Given the description of an element on the screen output the (x, y) to click on. 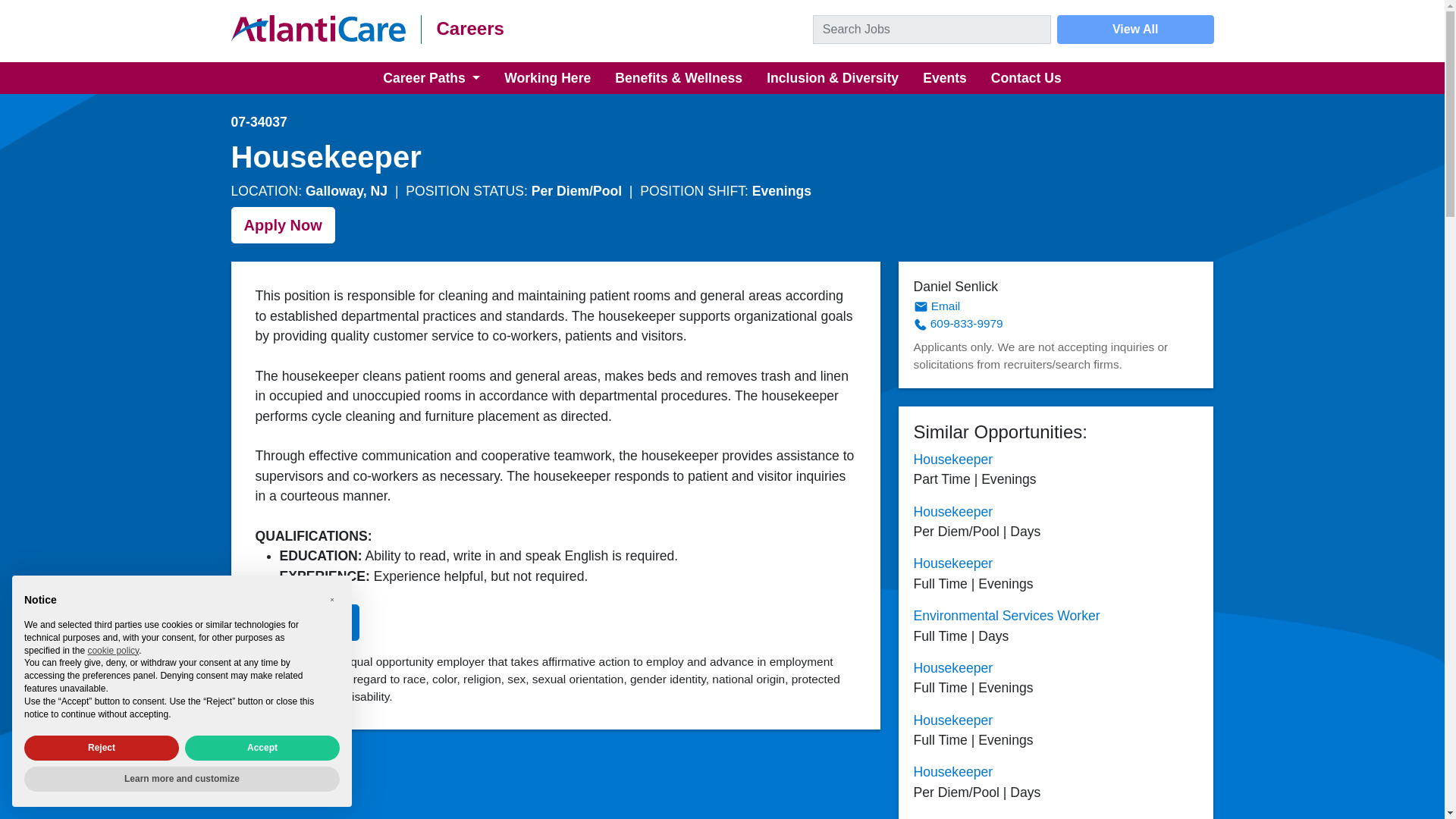
Housekeeper (952, 720)
Apply Now (306, 622)
Email (935, 305)
Events (944, 78)
View All (1135, 29)
609-833-9979 (957, 323)
Housekeeper (952, 817)
Environmental Services Worker (1005, 615)
View All (1135, 29)
Housekeeper (952, 771)
Housekeeper (952, 667)
Contact Us (1026, 78)
Apply Now (282, 225)
Working Here (547, 78)
Housekeeper (952, 563)
